Given the description of an element on the screen output the (x, y) to click on. 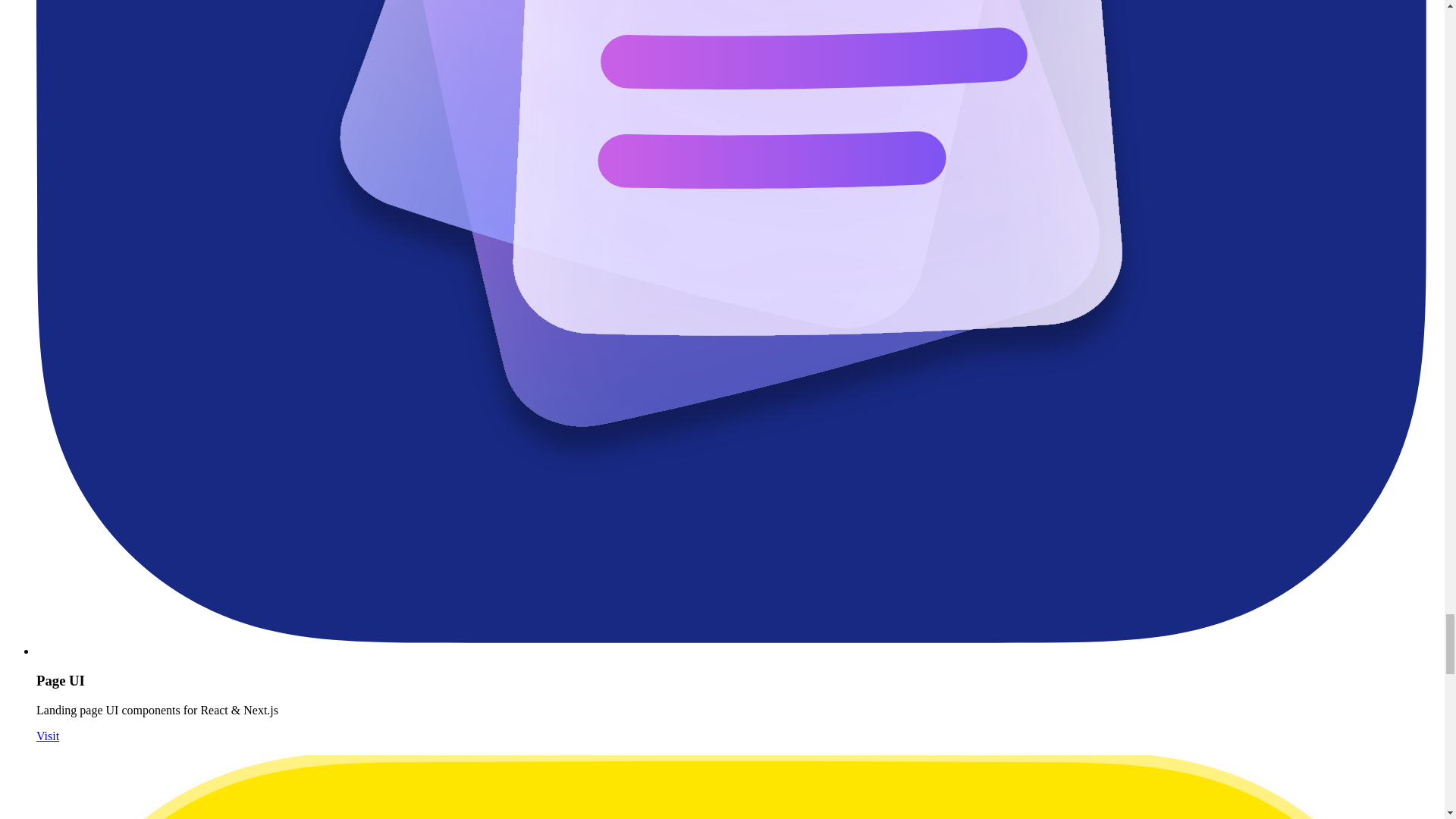
Visit (47, 735)
